Given the description of an element on the screen output the (x, y) to click on. 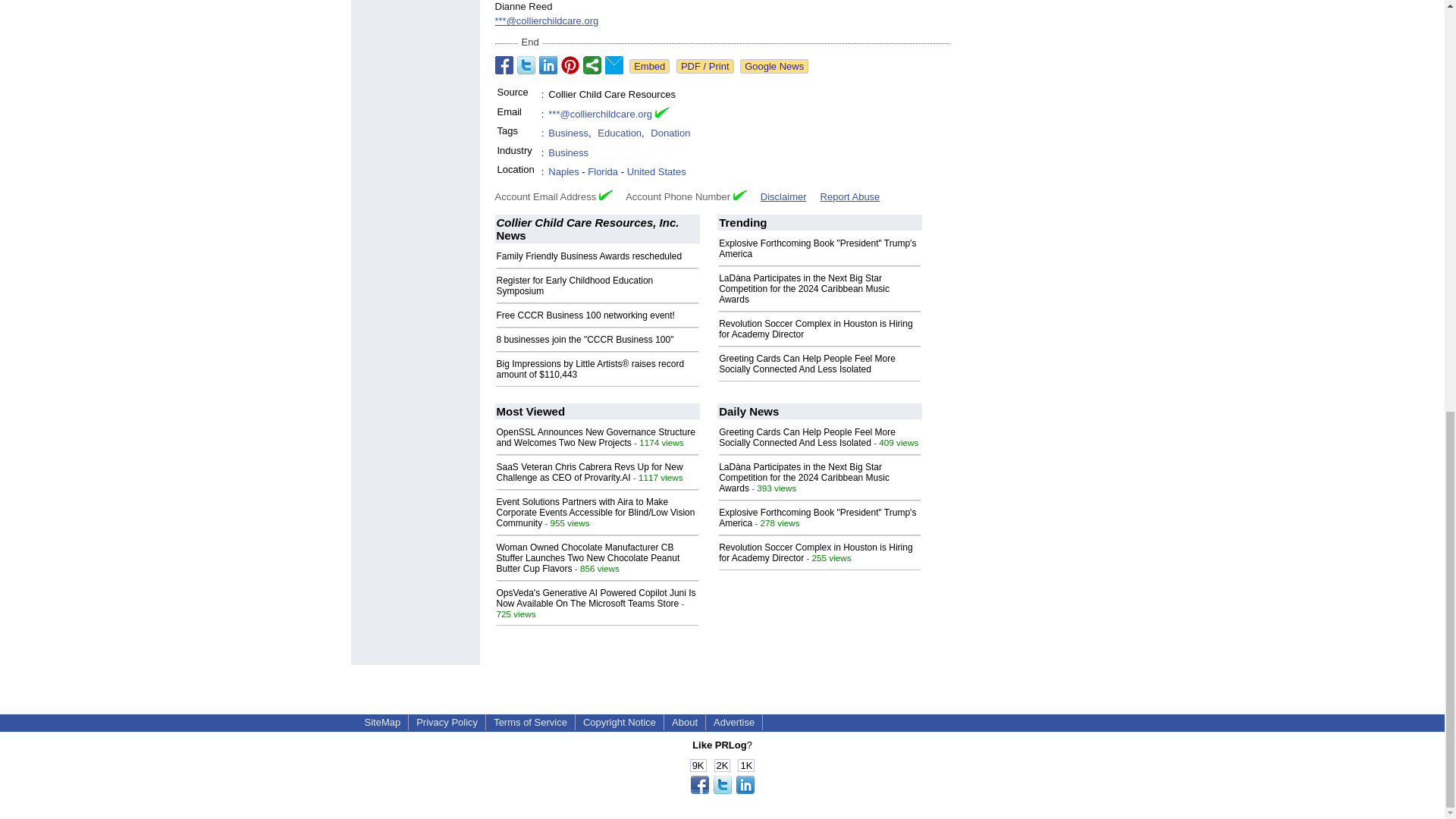
Embed this press release in your website! (648, 65)
Embed (648, 65)
Verified (739, 194)
Share on Facebook (503, 65)
Share on Pinterest (569, 65)
Email to a Friend (614, 65)
Share this page! (722, 790)
Share on StumbleUpon, Digg, etc (590, 65)
Share on LinkedIn (547, 65)
Email Verified (661, 114)
Verified (605, 194)
See or print the PDF version! (705, 65)
Share on Twitter (525, 65)
